Given the description of an element on the screen output the (x, y) to click on. 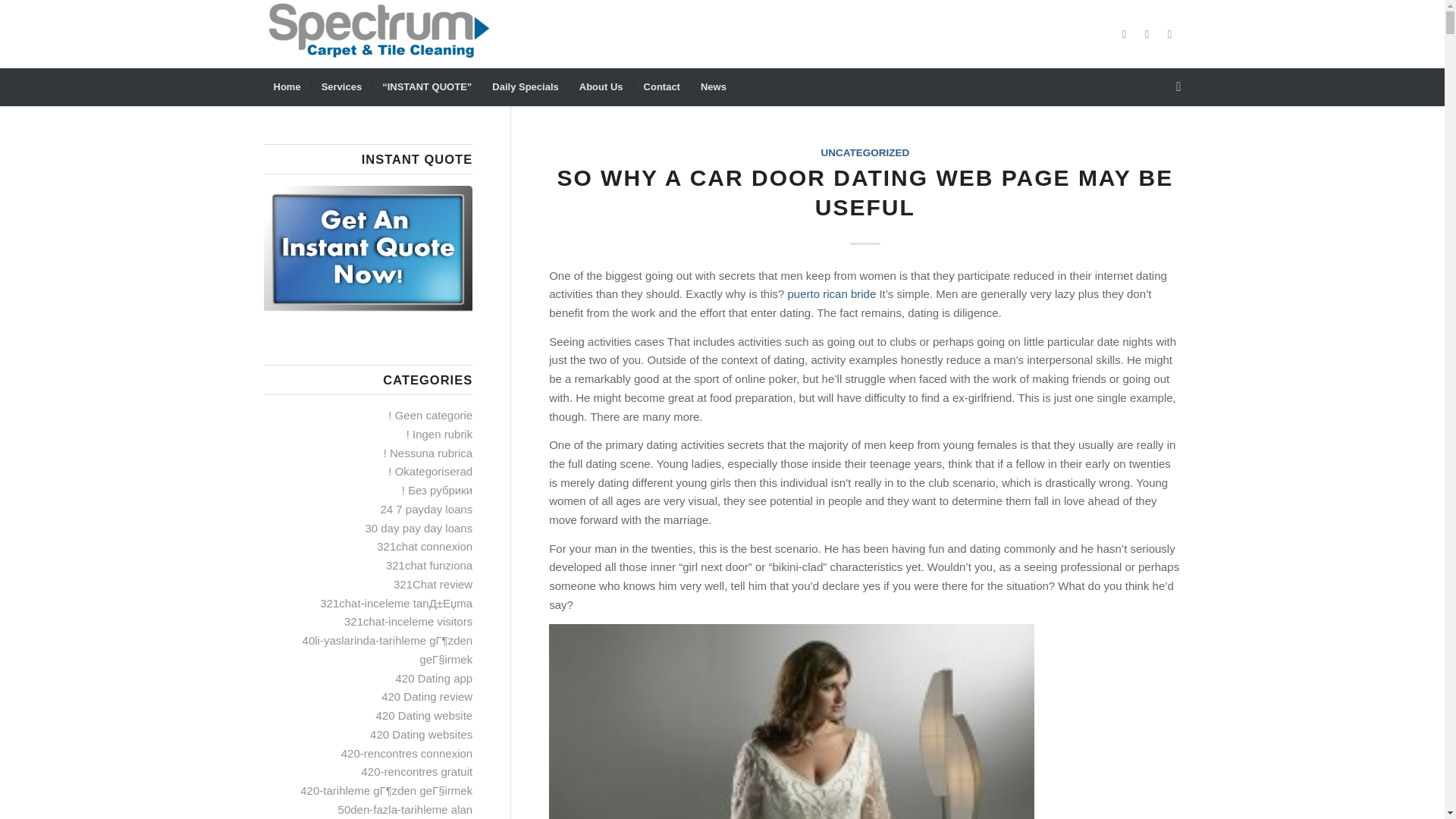
Facebook (1124, 33)
About Us (601, 86)
Services (341, 86)
LinkedIn (1169, 33)
Contact (661, 86)
Twitter (1146, 33)
Daily Specials (524, 86)
News (713, 86)
Home (287, 86)
